Given the description of an element on the screen output the (x, y) to click on. 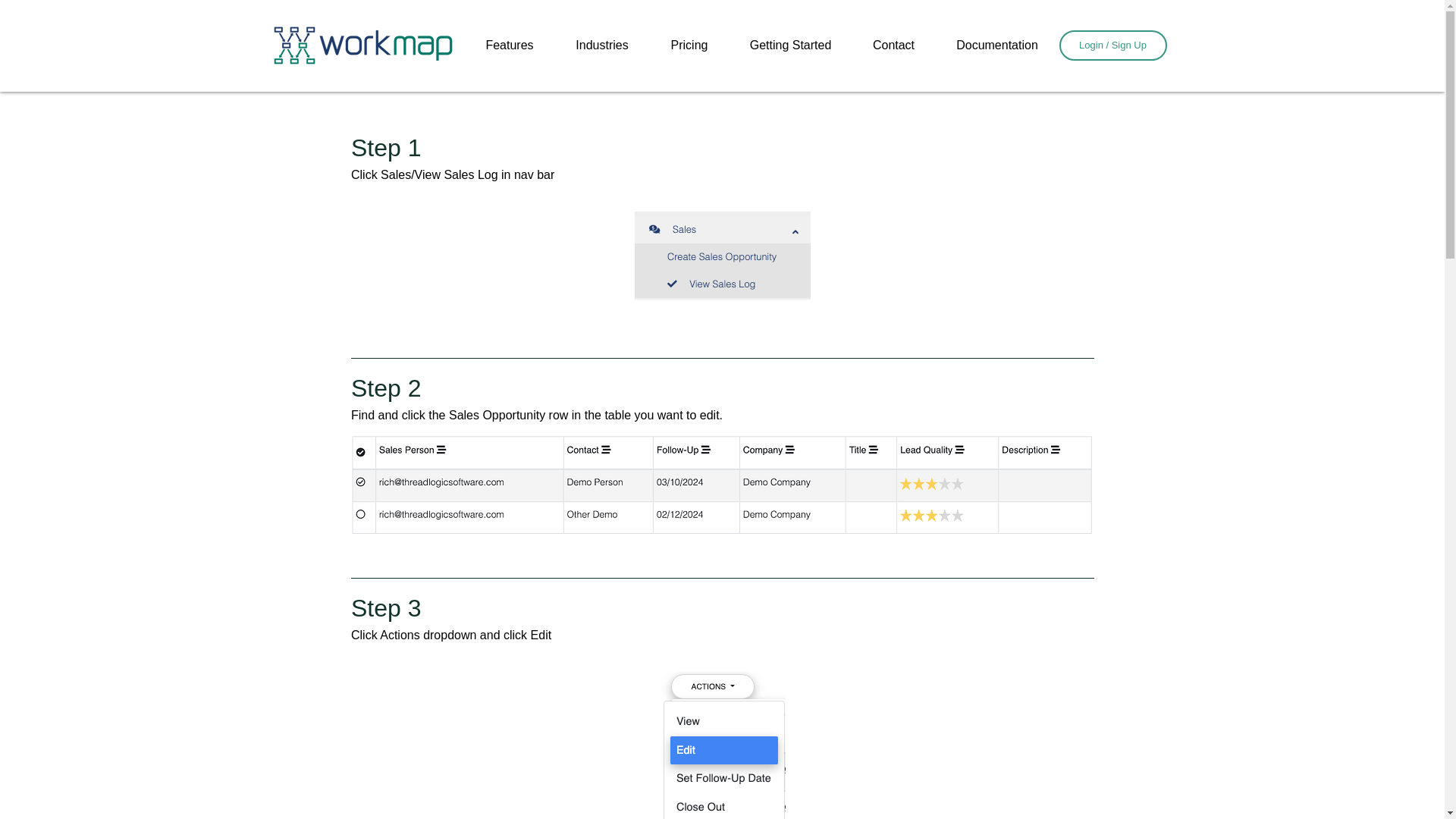
Pricing (689, 45)
Getting Started (790, 45)
Industries (601, 45)
Features (509, 45)
Contact (893, 45)
